Given the description of an element on the screen output the (x, y) to click on. 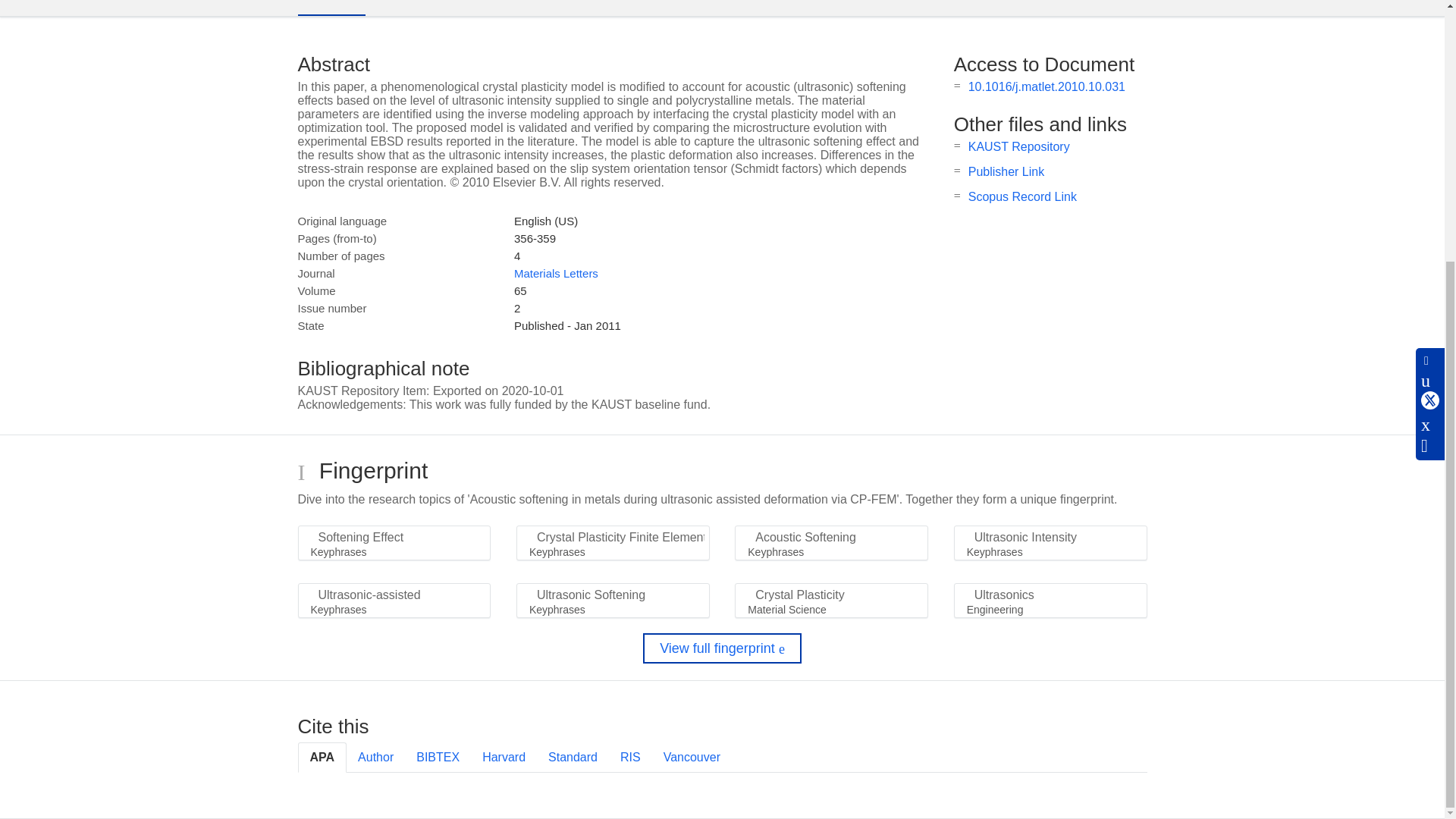
View full fingerprint (722, 648)
KAUST Repository (1019, 146)
Scopus Record Link (1022, 196)
Overview (331, 7)
Fingerprint (419, 7)
Materials Letters (555, 273)
Publisher Link (1006, 171)
